Given the description of an element on the screen output the (x, y) to click on. 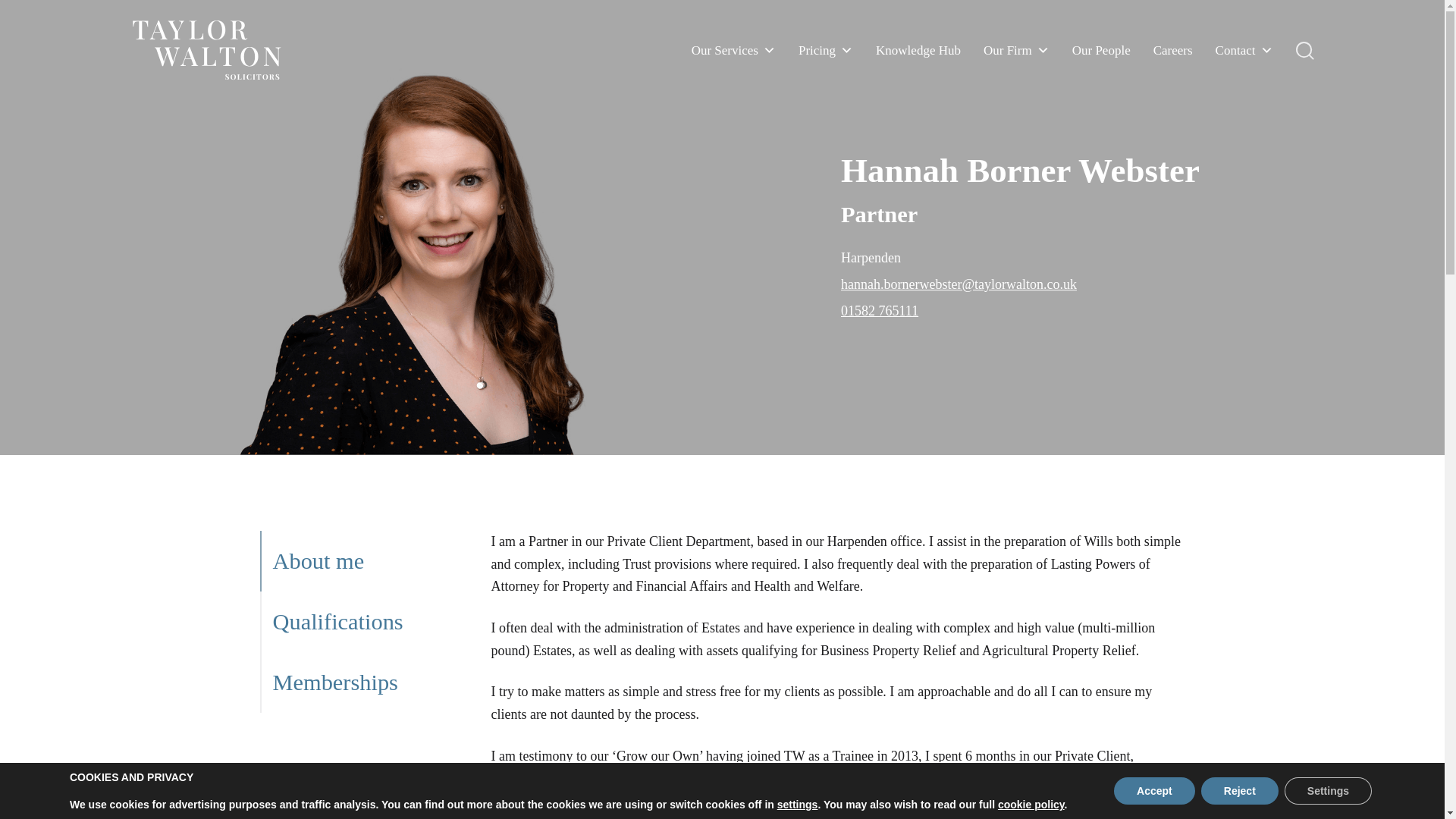
Contact (1244, 51)
Pricing (825, 51)
Careers (1172, 51)
Our Services (733, 51)
Our Firm (1016, 51)
01582 765111 (879, 310)
Our People (1101, 51)
Taylor Walton Solicitors (206, 49)
Knowledge Hub (918, 51)
